Given the description of an element on the screen output the (x, y) to click on. 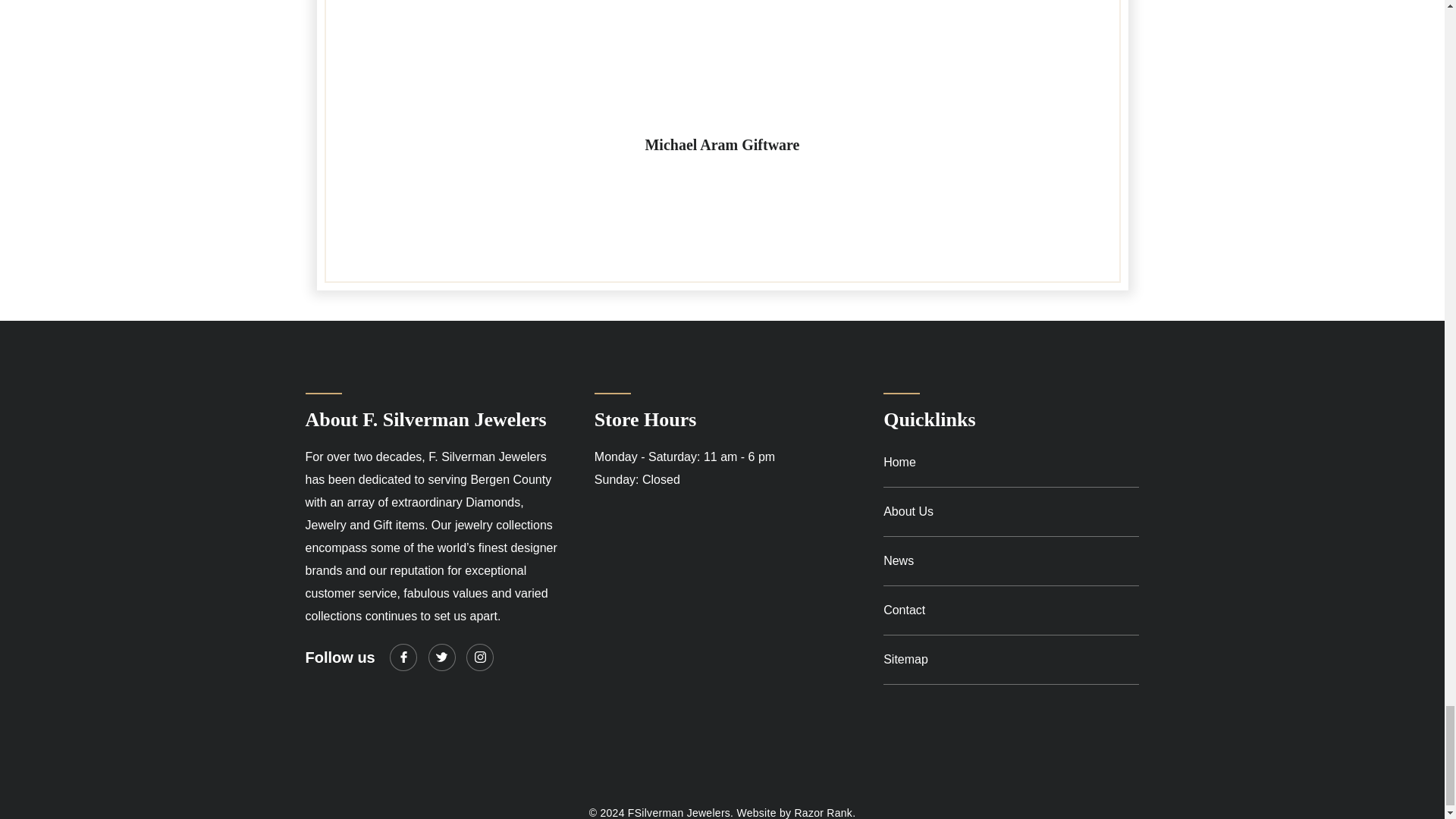
Facebook (403, 656)
Instagram (479, 656)
Twitter (441, 656)
